Given the description of an element on the screen output the (x, y) to click on. 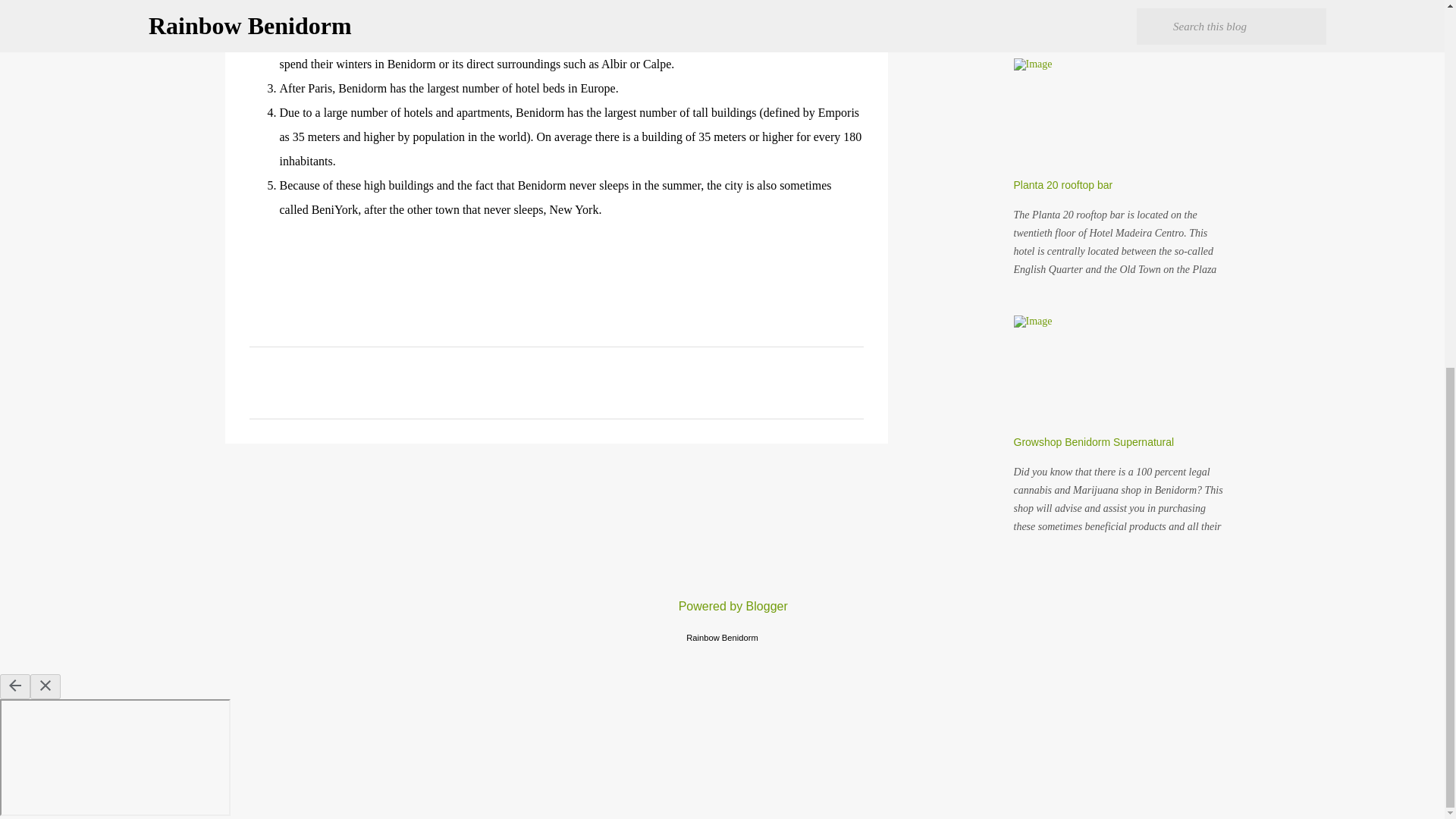
Powered by Blogger (721, 605)
Email Post (257, 249)
Growshop Benidorm Supernatural (1093, 441)
Planta 20 rooftop bar (1062, 184)
